Given the description of an element on the screen output the (x, y) to click on. 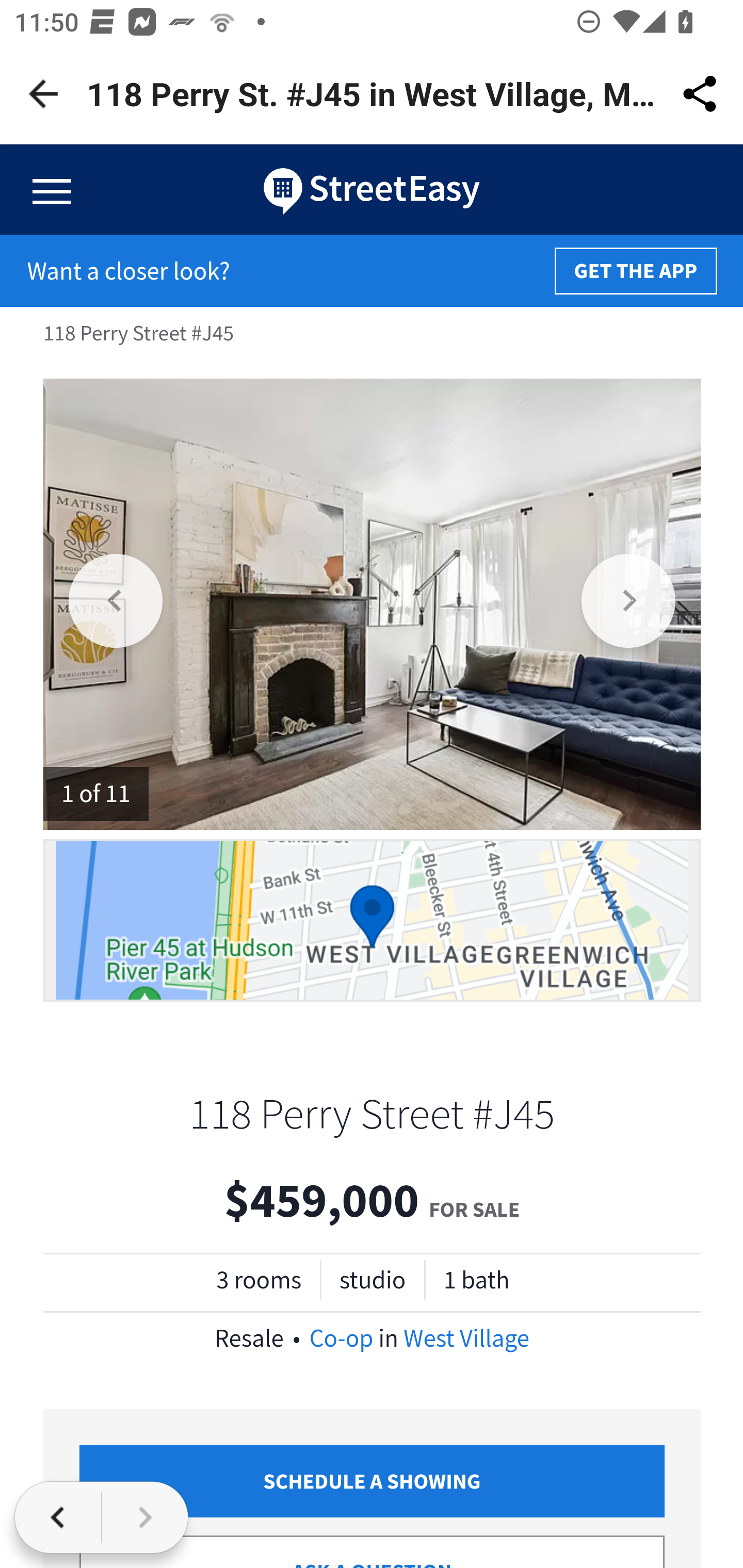
Skip Navigation (371, 190)
Previous (116, 603)
Next (629, 603)
Map icon (372, 919)
118 Perry Street #J45 (371, 1113)
Co-op (340, 1337)
West Village (466, 1337)
SCHEDULE A SHOWING (372, 1480)
